Given the description of an element on the screen output the (x, y) to click on. 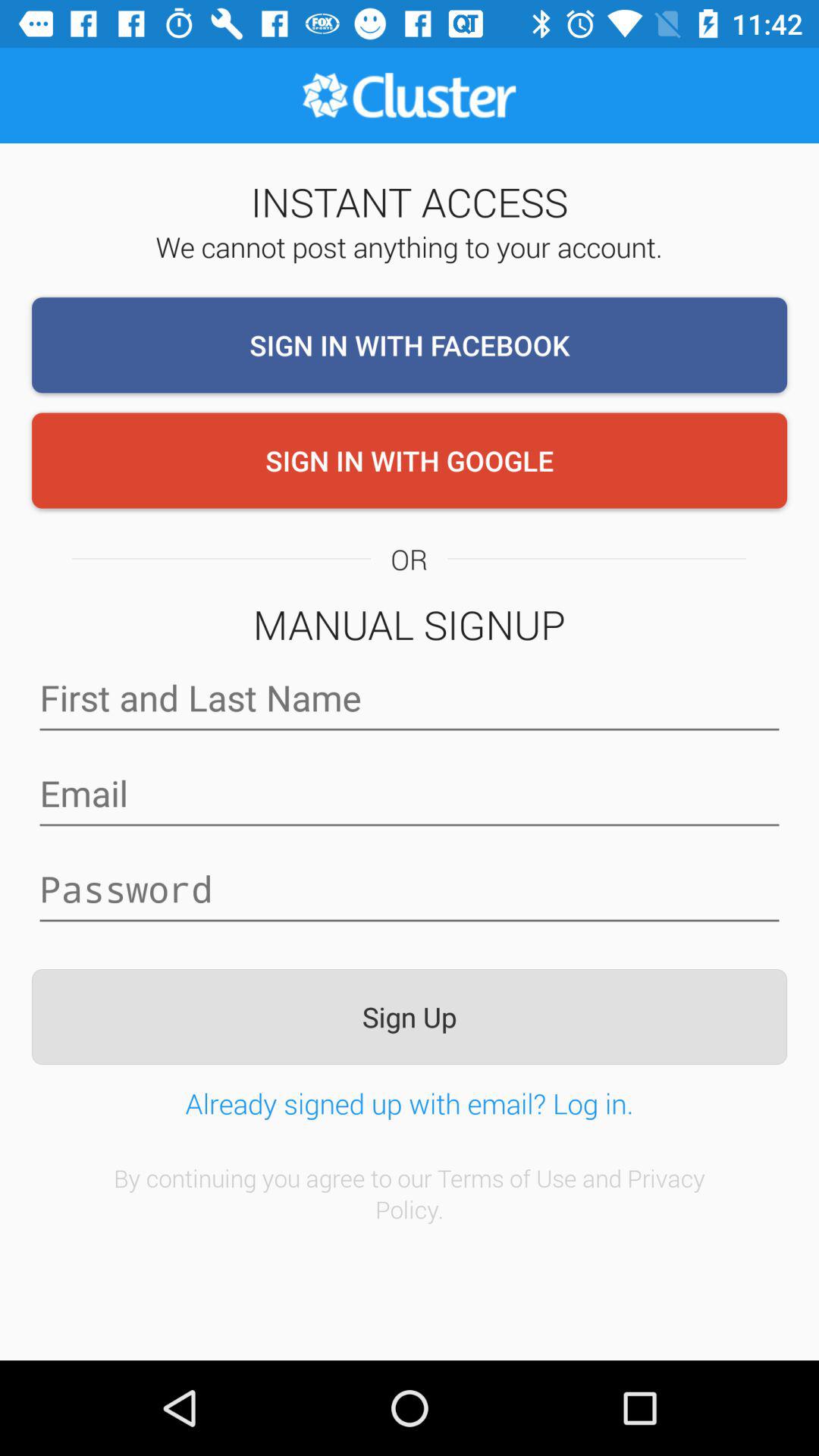
email (409, 793)
